Given the description of an element on the screen output the (x, y) to click on. 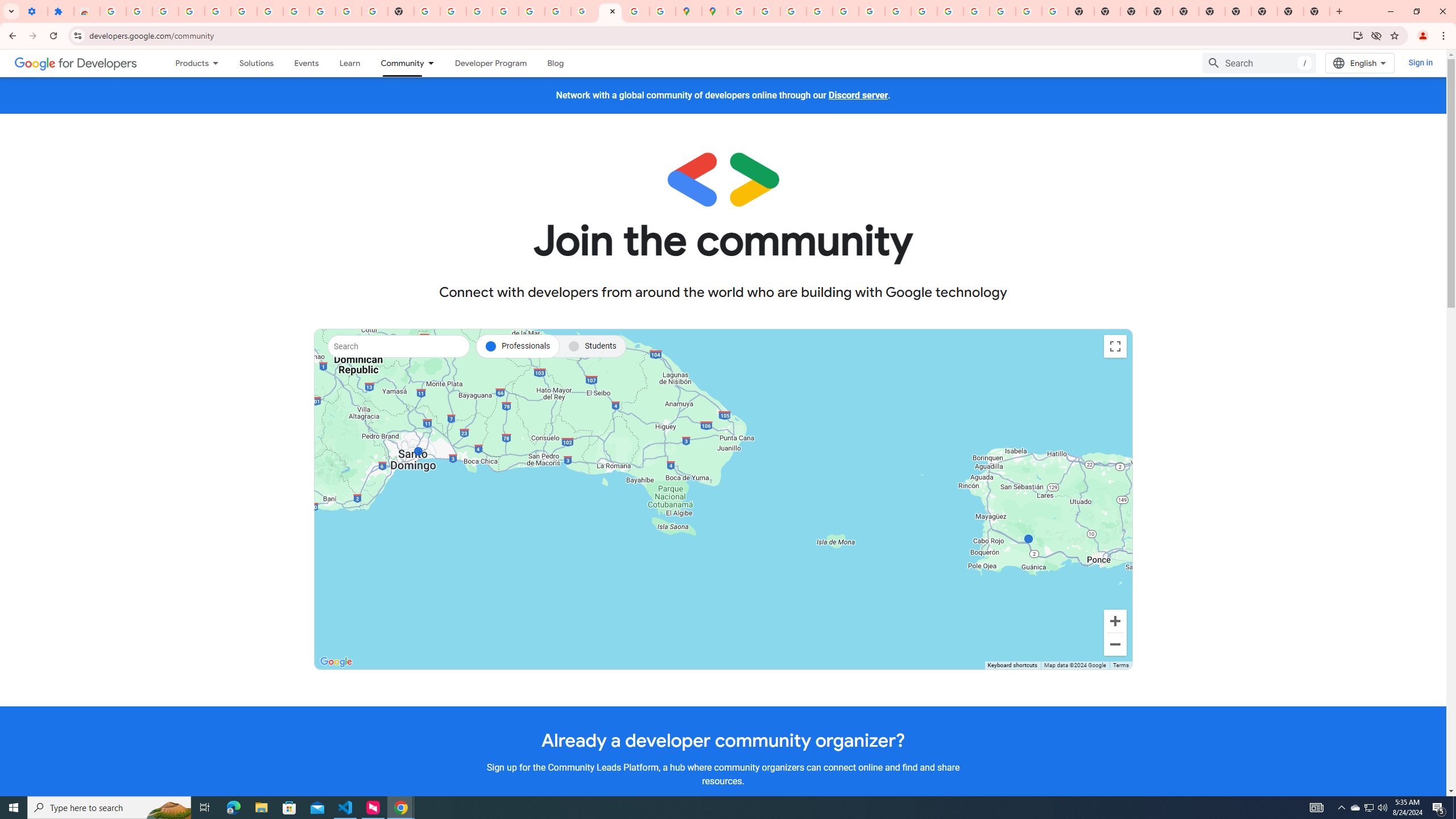
Developer Program (490, 62)
Sign in - Google Accounts (740, 11)
New Tab (1316, 11)
Open this area in Google Maps (opens a new window) (336, 661)
